Given the description of an element on the screen output the (x, y) to click on. 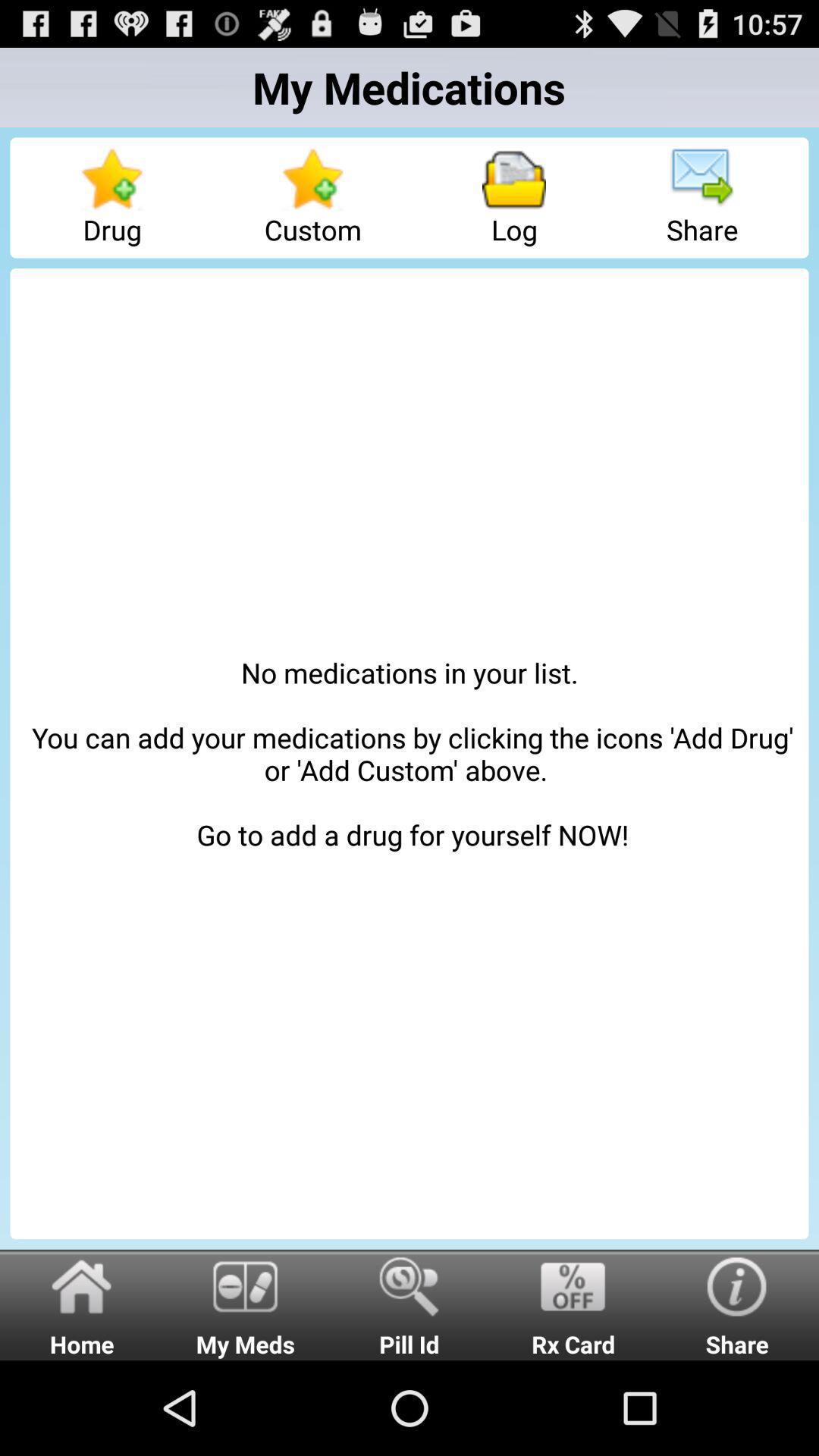
press the app below no medications in app (409, 1304)
